Given the description of an element on the screen output the (x, y) to click on. 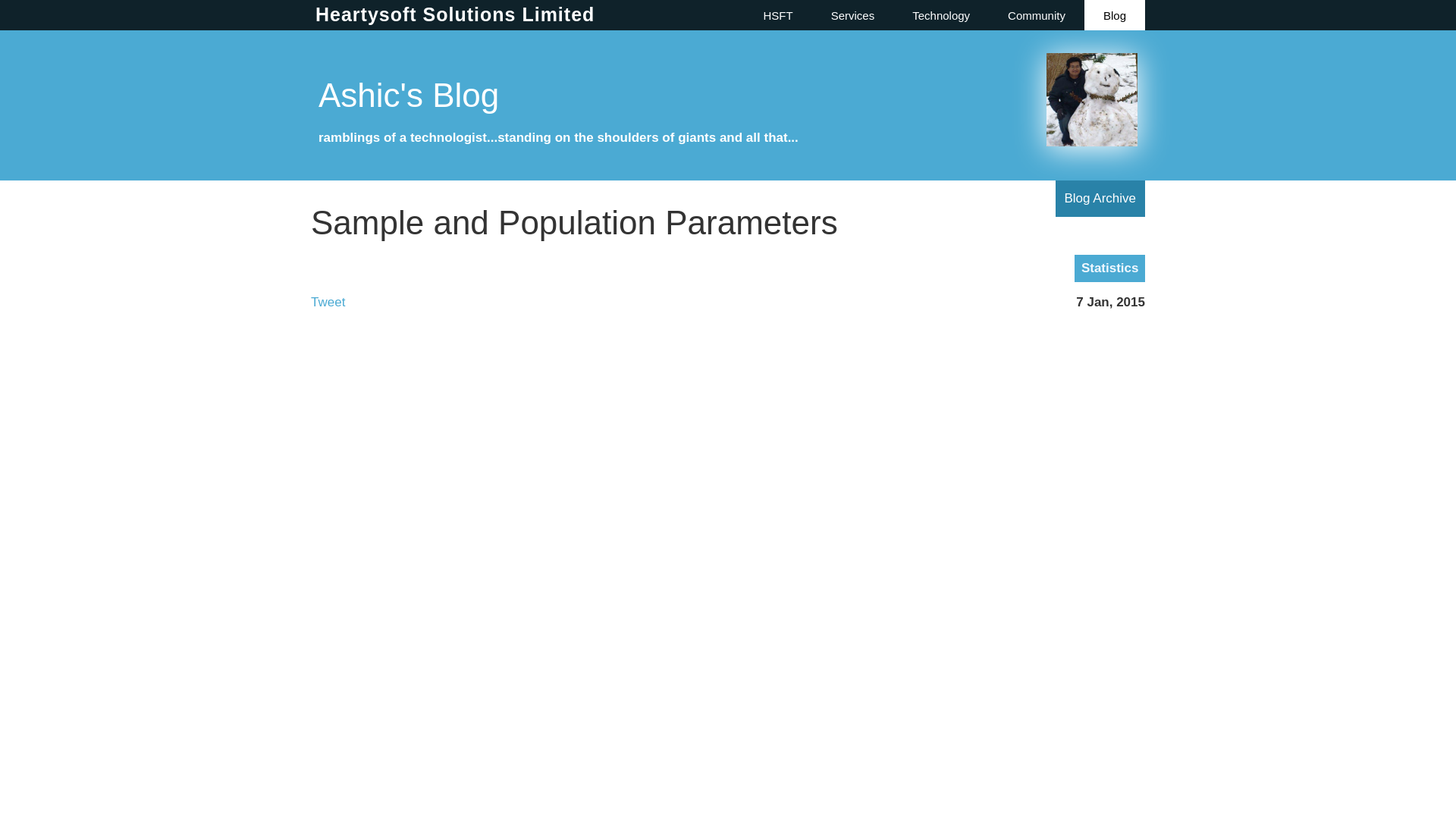
Blog (1114, 15)
Blog Archive (1100, 198)
HSFT (778, 15)
Tweet (328, 301)
Technology (940, 15)
Community (1036, 15)
Home (778, 15)
Technology (940, 15)
Blog (1114, 15)
Services (852, 15)
